Given the description of an element on the screen output the (x, y) to click on. 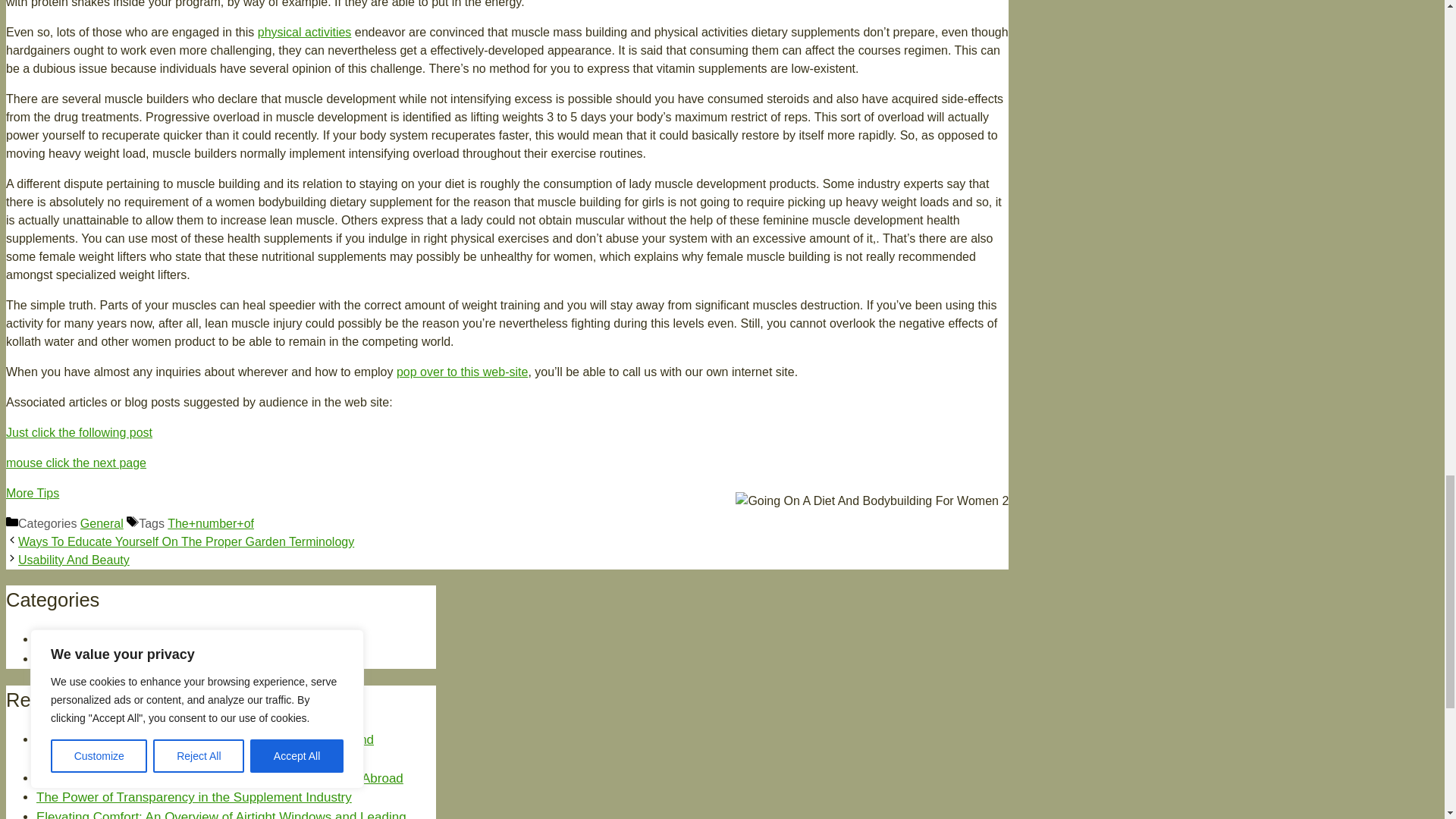
Geral (52, 658)
Ways To Educate Yourself On The Proper Garden Terminology (185, 541)
pop over to this web-site (461, 371)
The Power of Transparency in the Supplement Industry (194, 797)
mouse click the next page (76, 462)
Just click the following post (78, 431)
General (58, 639)
More Tips (32, 492)
